Given the description of an element on the screen output the (x, y) to click on. 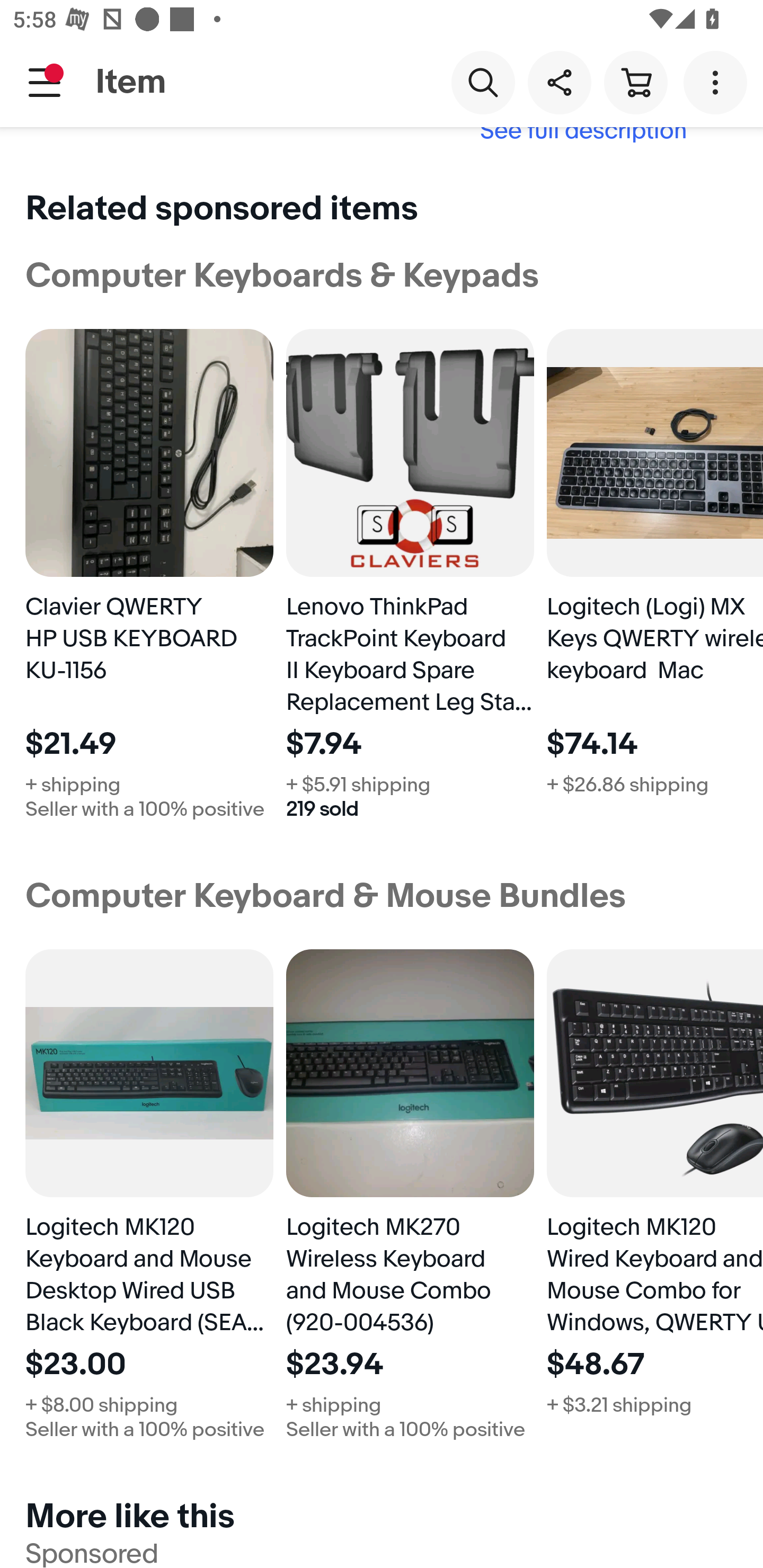
Main navigation, notification is pending, open (44, 82)
Search (482, 81)
Share this item (559, 81)
Cart button shopping cart (635, 81)
More options (718, 81)
